Given the description of an element on the screen output the (x, y) to click on. 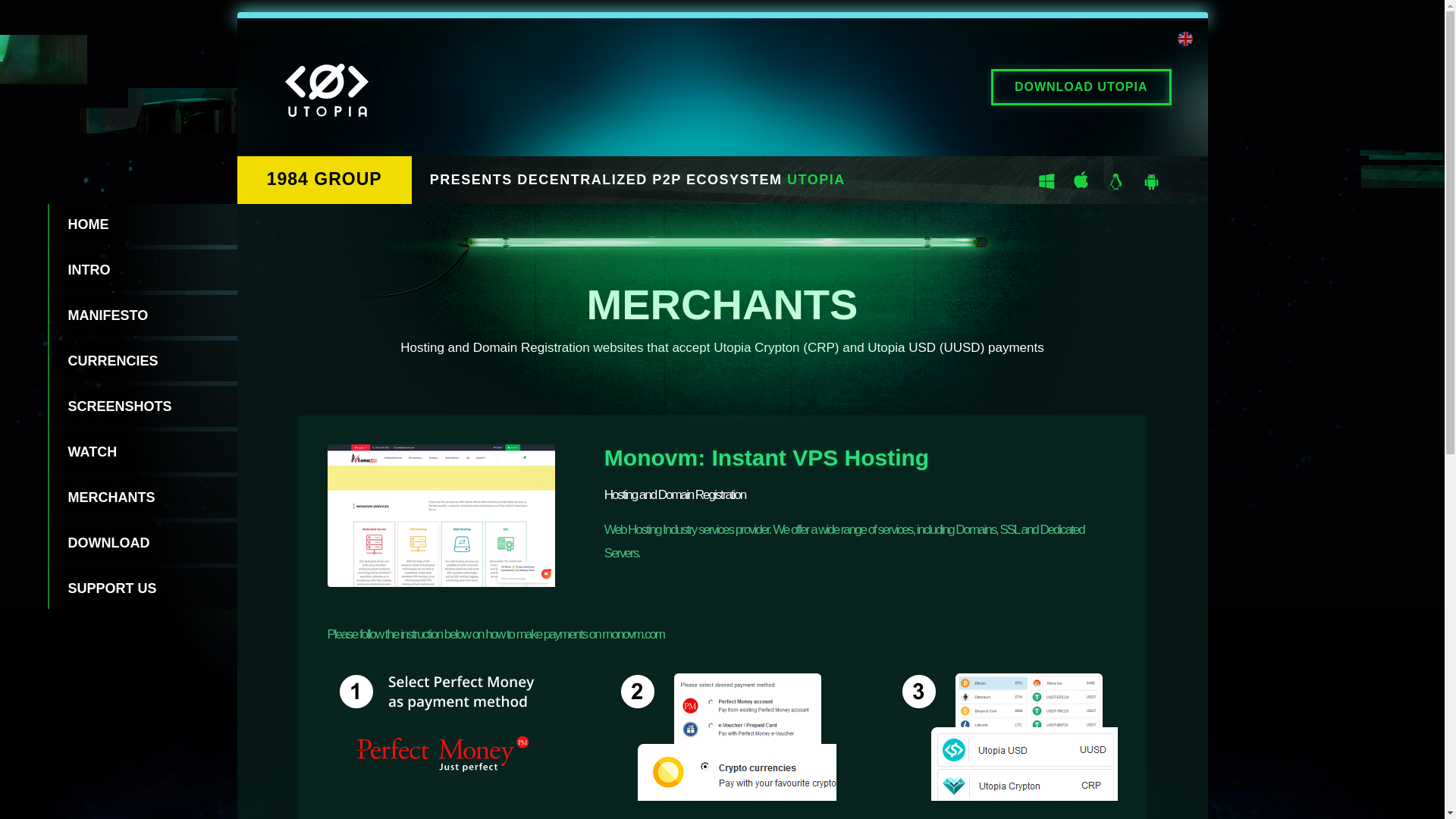
CURRENCIES (141, 360)
MANIFESTO (141, 314)
DOWNLOAD UTOPIA (1081, 86)
HOME (141, 223)
SUPPORT US (141, 588)
English (1184, 41)
MERCHANTS (141, 496)
DOWNLOAD (141, 542)
WATCH (141, 451)
INTRO (141, 269)
